Given the description of an element on the screen output the (x, y) to click on. 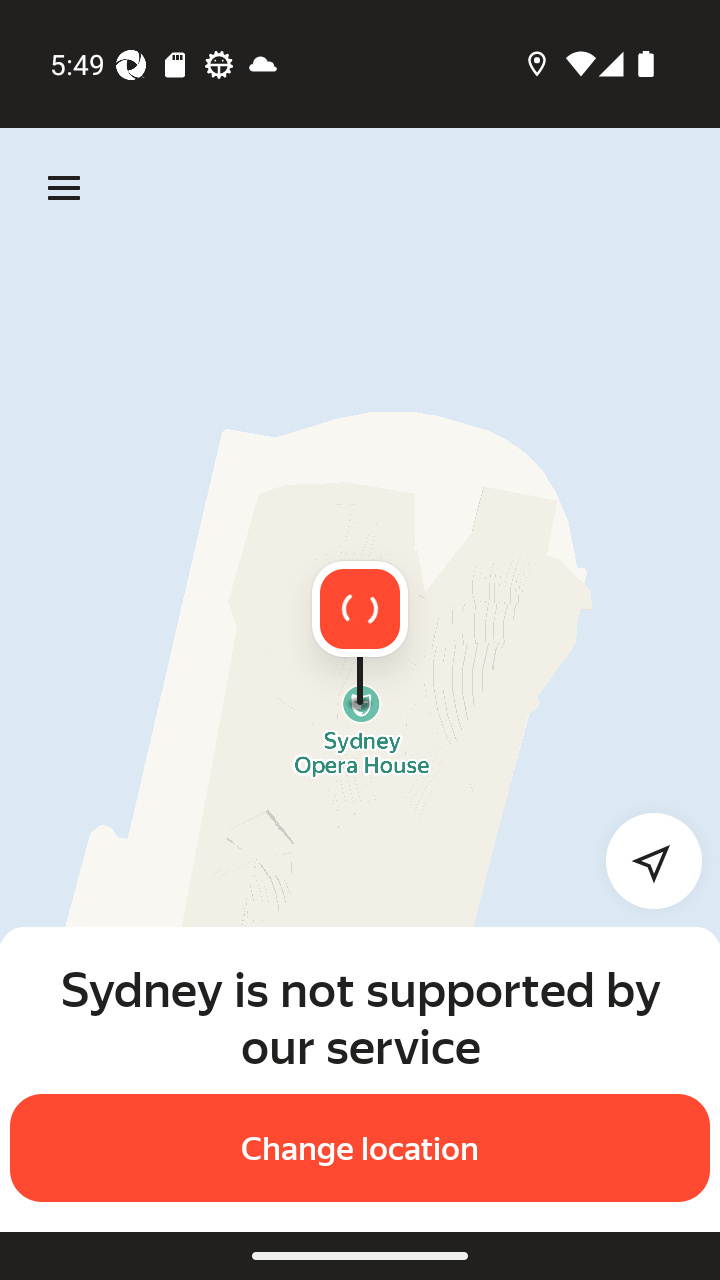
Menu Menu Menu (64, 188)
Detect my location (641, 860)
Sydney is not supported by our service (360, 1017)
Change location (359, 1147)
